Given the description of an element on the screen output the (x, y) to click on. 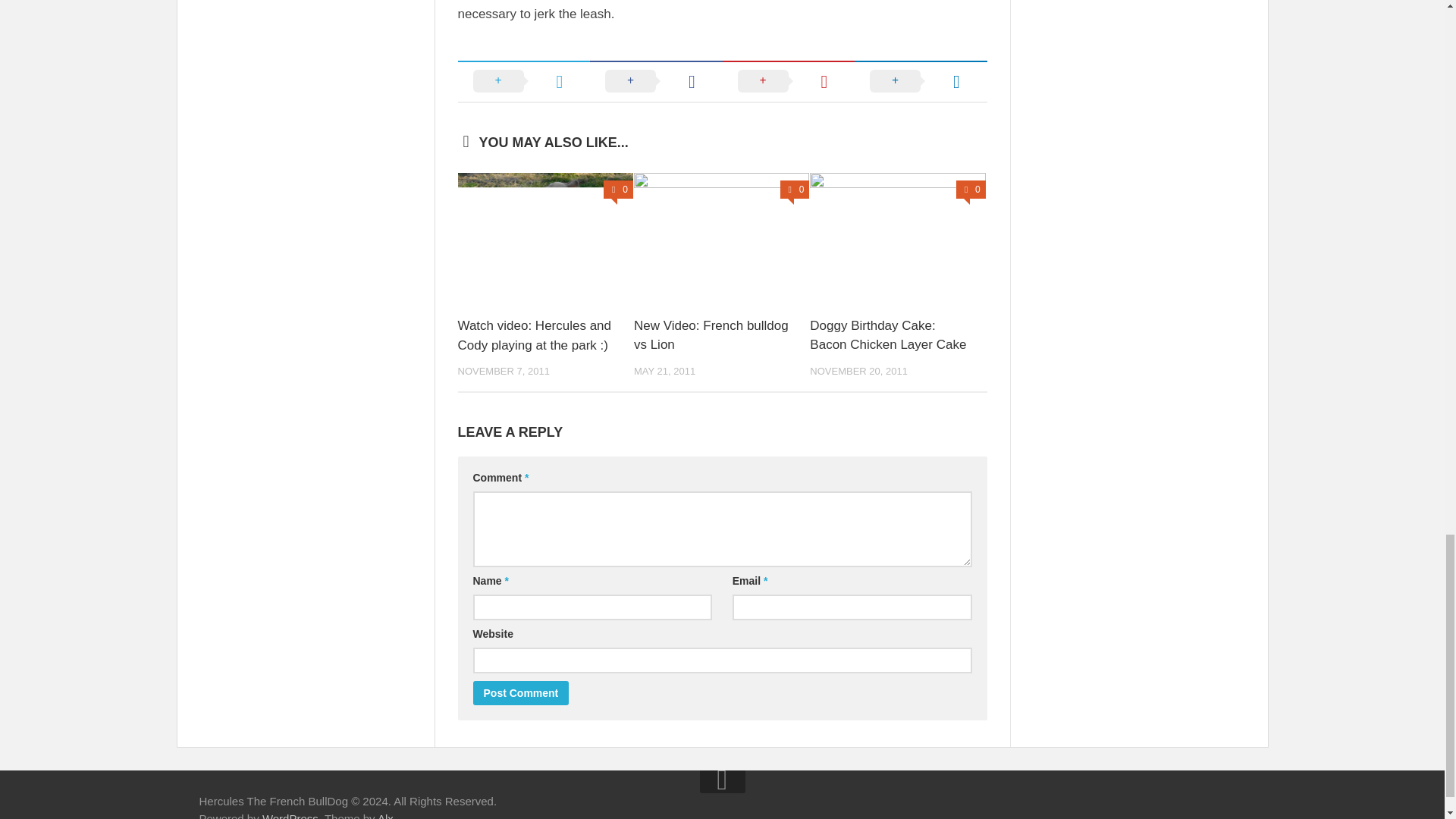
Post Comment (521, 692)
0 (618, 189)
Share on LinkedIn (920, 80)
New Video: French bulldog vs Lion (711, 335)
0 (970, 189)
Doggy Birthday Cake: Bacon Chicken Layer Cake (887, 335)
0 (794, 189)
Share on Facebook (655, 80)
Share on X (524, 80)
Post Comment (521, 692)
